Given the description of an element on the screen output the (x, y) to click on. 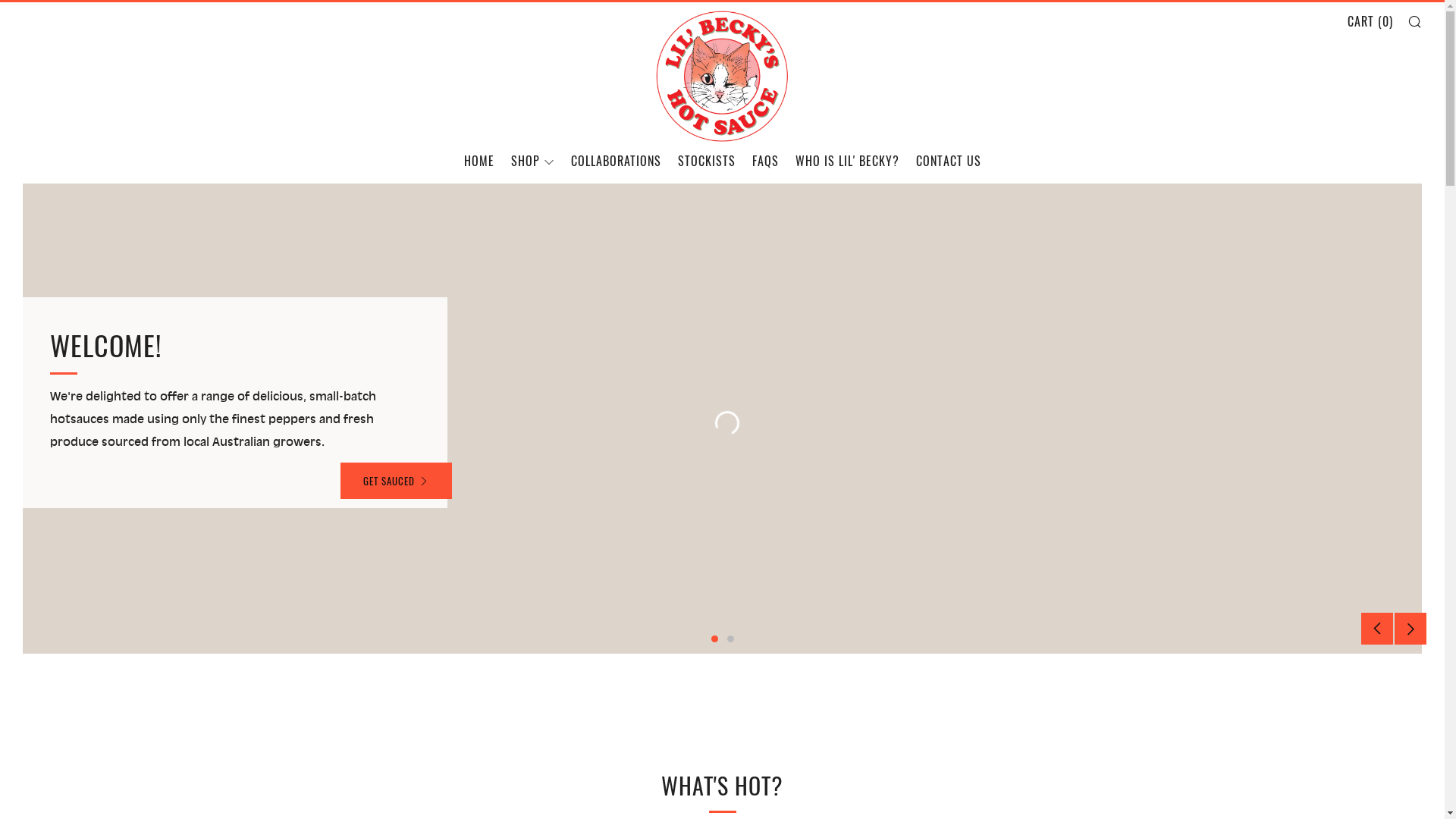
CART (0) Element type: text (1370, 21)
1 Element type: text (714, 638)
SEARCH Element type: text (1414, 21)
STOCKISTS Element type: text (706, 160)
CONTACT US Element type: text (948, 160)
WHO IS LIL' BECKY? Element type: text (846, 160)
HOME Element type: text (479, 160)
FAQS Element type: text (765, 160)
SHOP Element type: text (532, 160)
2 Element type: text (729, 638)
COLLABORATIONS Element type: text (615, 160)
GET SAUCED Element type: text (395, 480)
